Given the description of an element on the screen output the (x, y) to click on. 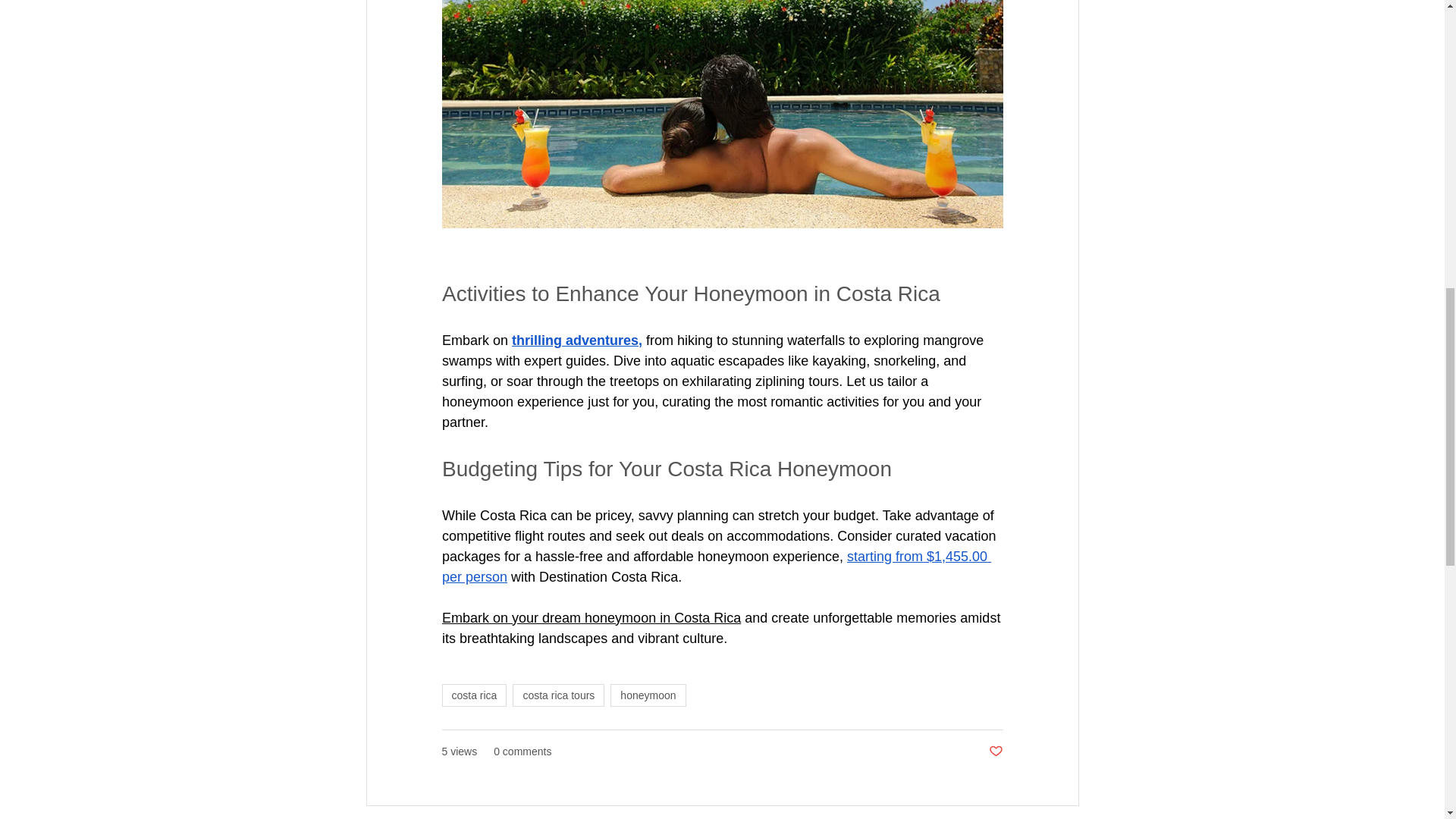
costa rica tours (558, 694)
Post not marked as liked (995, 751)
Embark on your dream honeymoon in Costa Rica (590, 617)
costa rica (473, 694)
thrilling adventures, (577, 340)
honeymoon (647, 694)
